Given the description of an element on the screen output the (x, y) to click on. 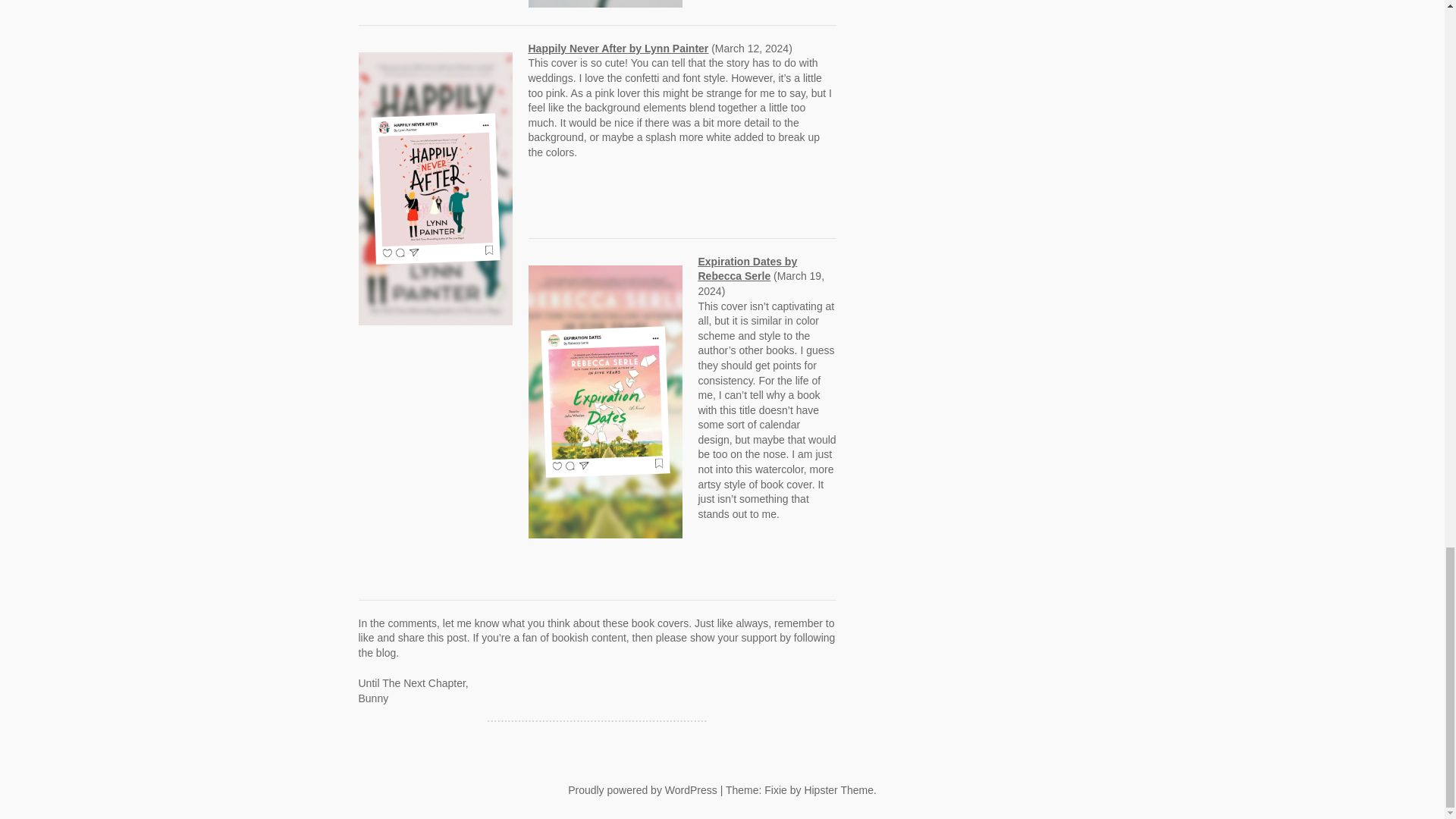
Expiration Dates by Rebecca Serle (746, 268)
Happily Never After by Lynn Painter (617, 48)
